Given the description of an element on the screen output the (x, y) to click on. 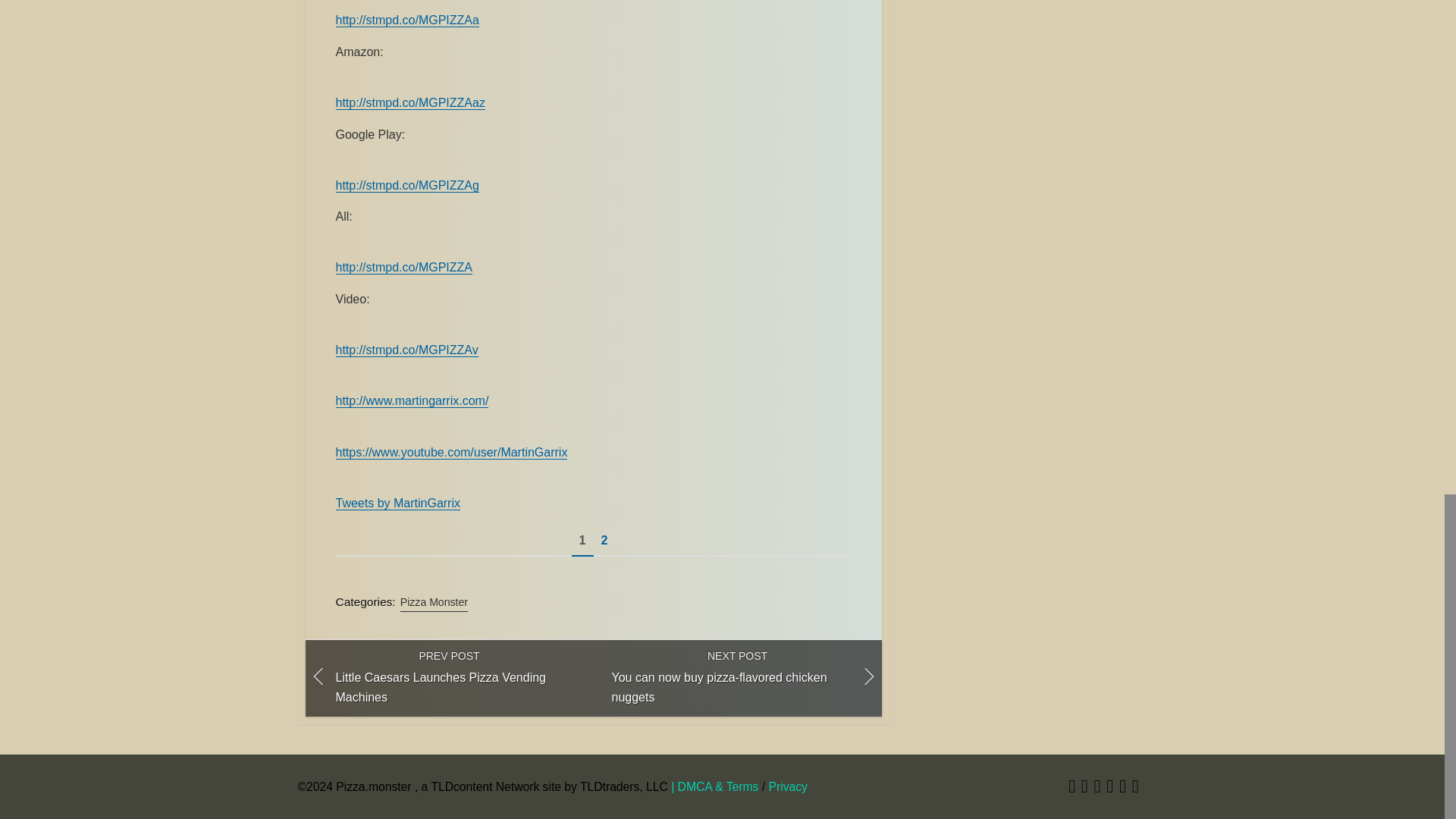
Pizza Monster (433, 601)
Tweets by MartinGarrix (448, 677)
